Given the description of an element on the screen output the (x, y) to click on. 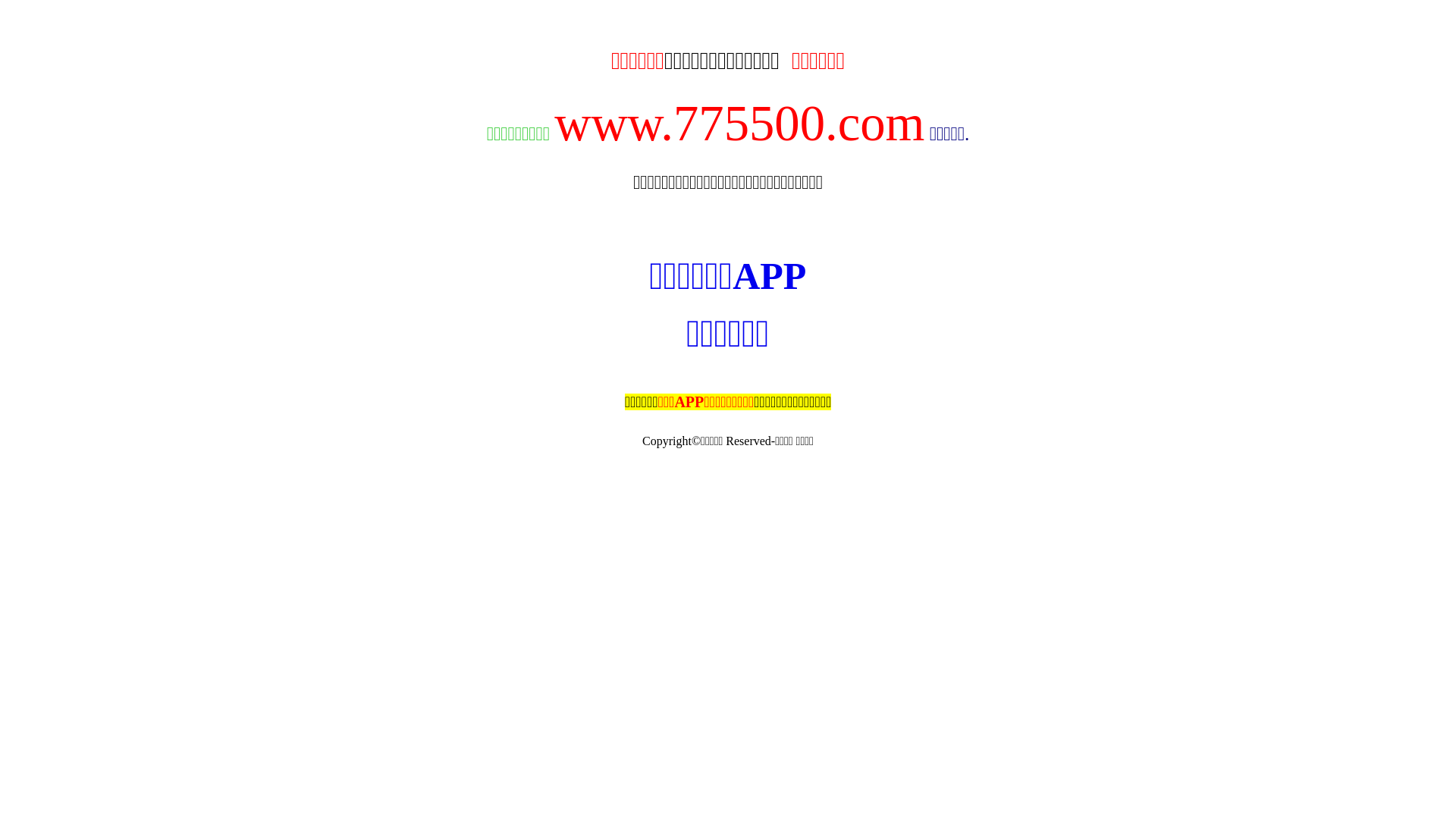
www.775500.com Element type: text (739, 122)
